Given the description of an element on the screen output the (x, y) to click on. 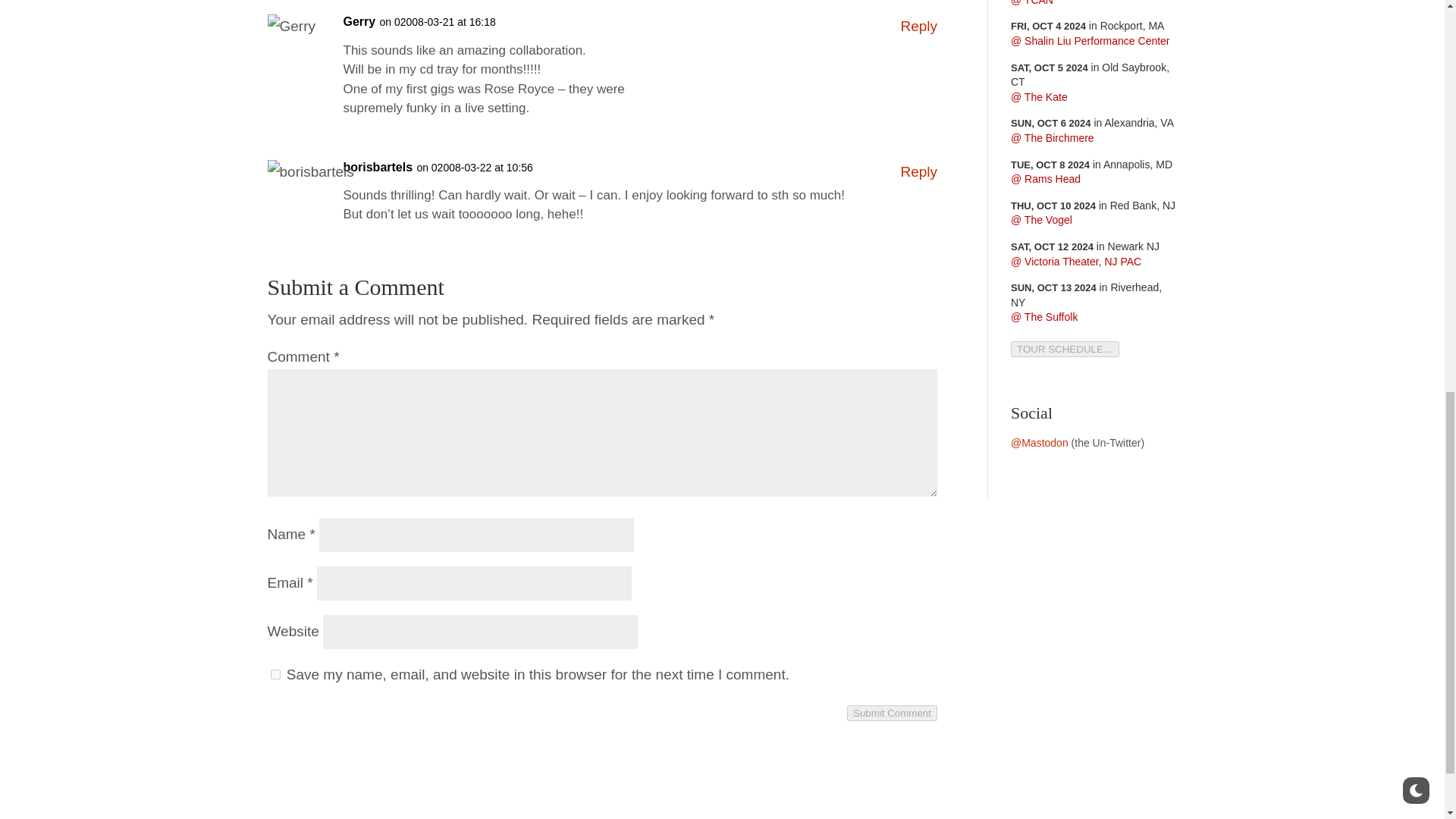
yes (274, 674)
Submit Comment (892, 713)
Reply (918, 171)
Reply (918, 26)
